Given the description of an element on the screen output the (x, y) to click on. 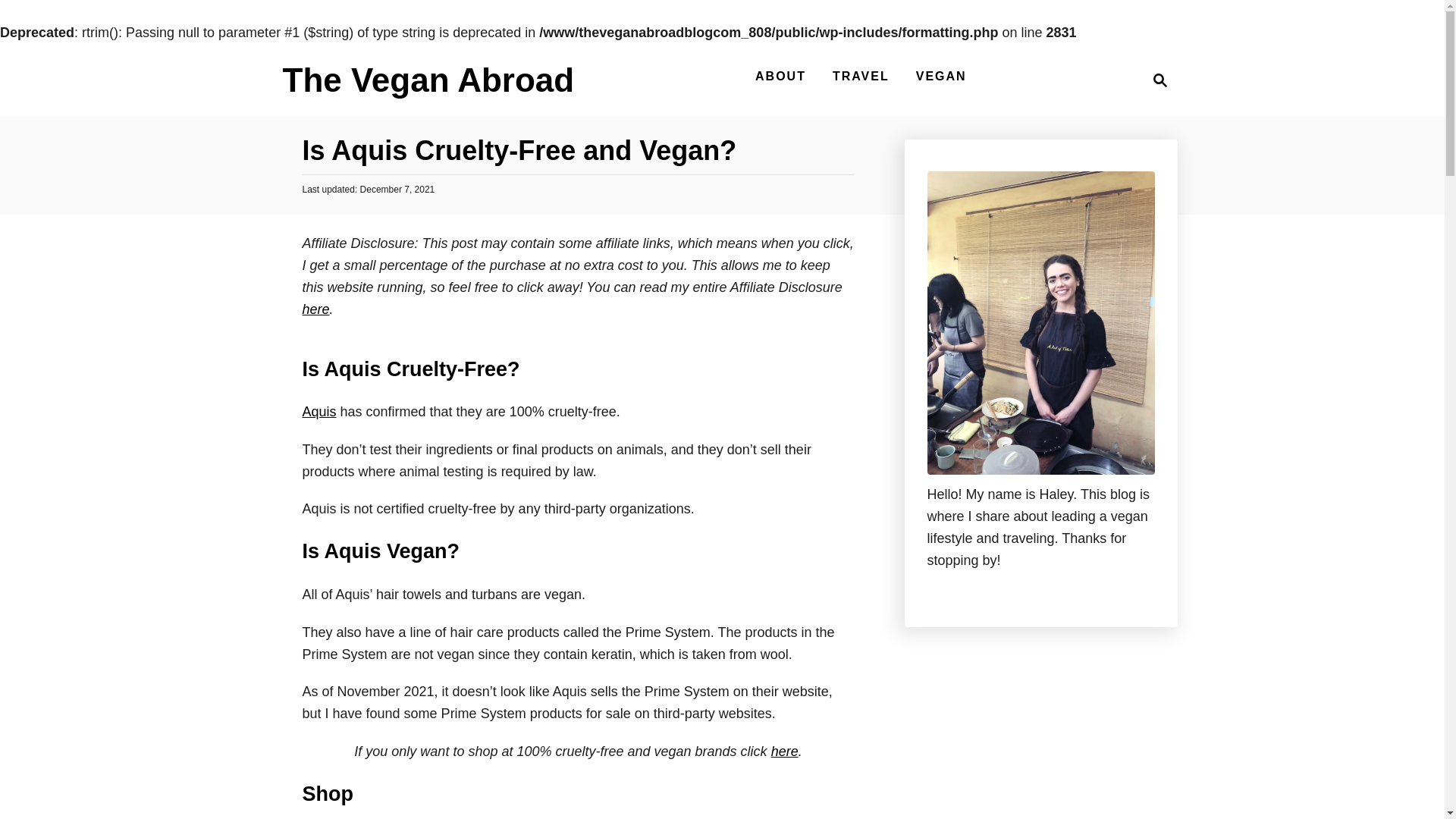
Magnifying Glass (1160, 80)
Aquis (318, 411)
TRAVEL (860, 76)
The Vegan Abroad (427, 87)
here (784, 750)
VEGAN (941, 76)
The Vegan Abroad (427, 87)
here (315, 309)
ABOUT (780, 76)
